Given the description of an element on the screen output the (x, y) to click on. 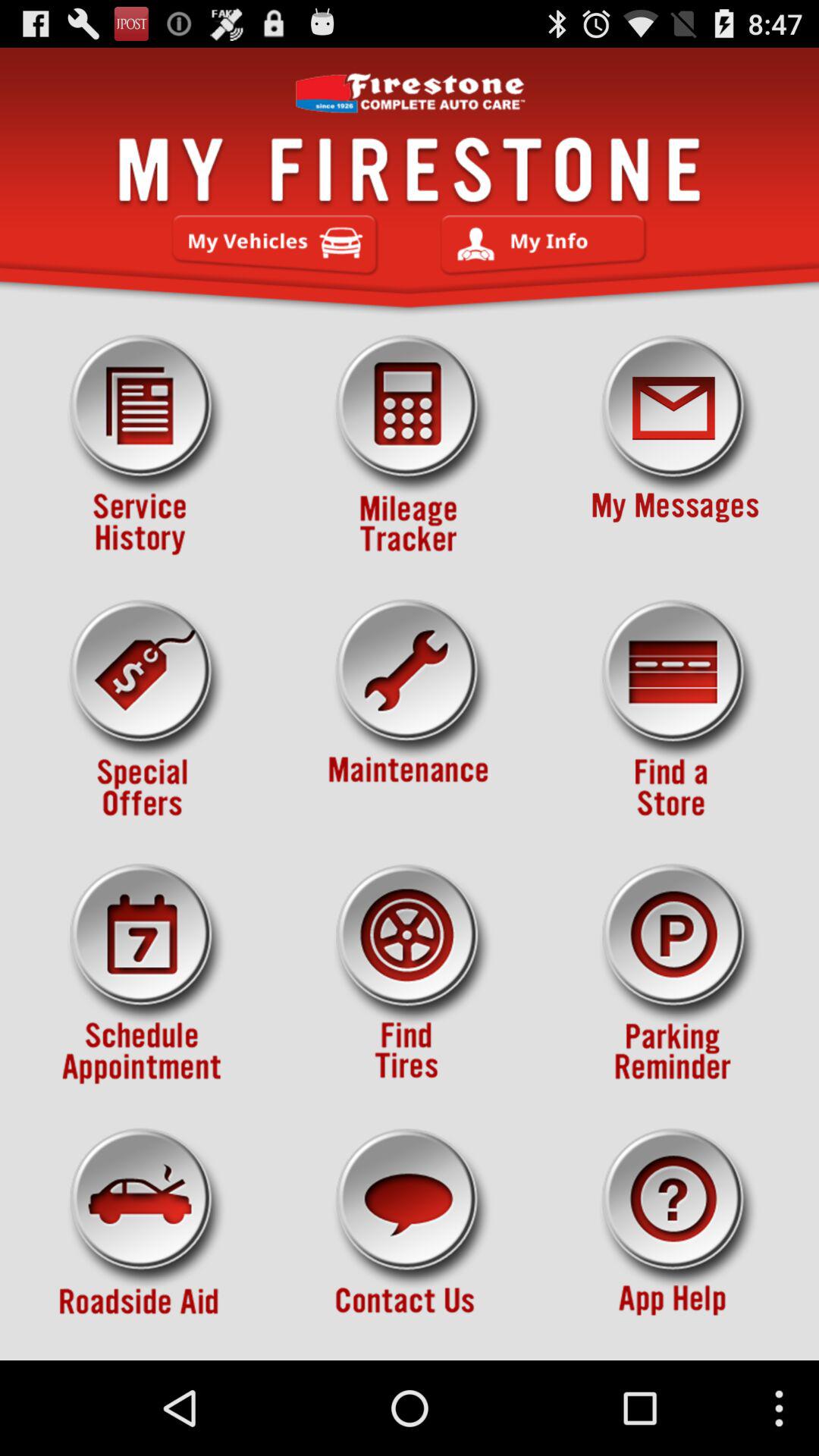
view service history (143, 445)
